Given the description of an element on the screen output the (x, y) to click on. 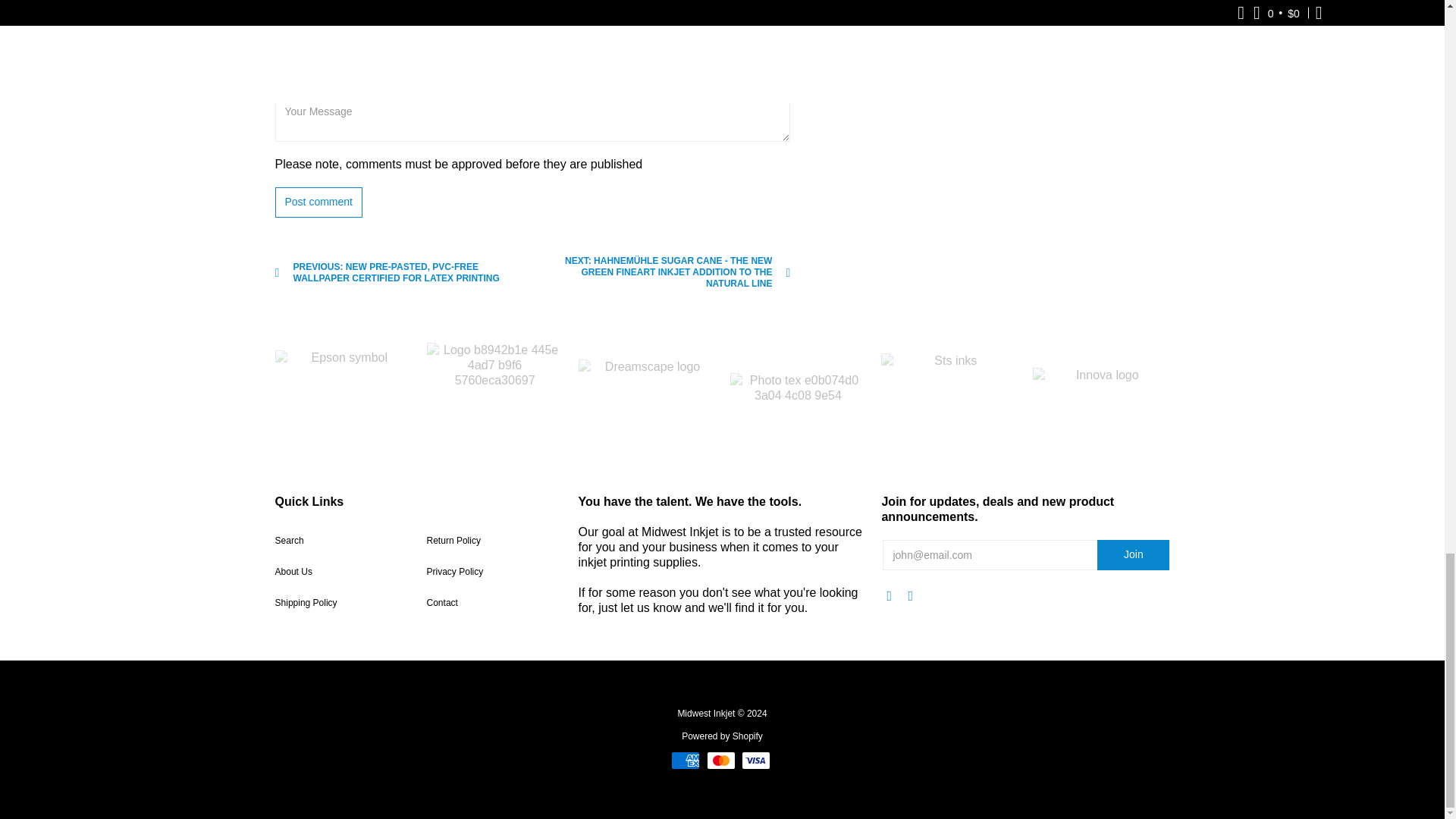
American Express (685, 760)
Post comment (318, 202)
Join (1133, 554)
Visa (755, 760)
Mastercard (720, 760)
